Given the description of an element on the screen output the (x, y) to click on. 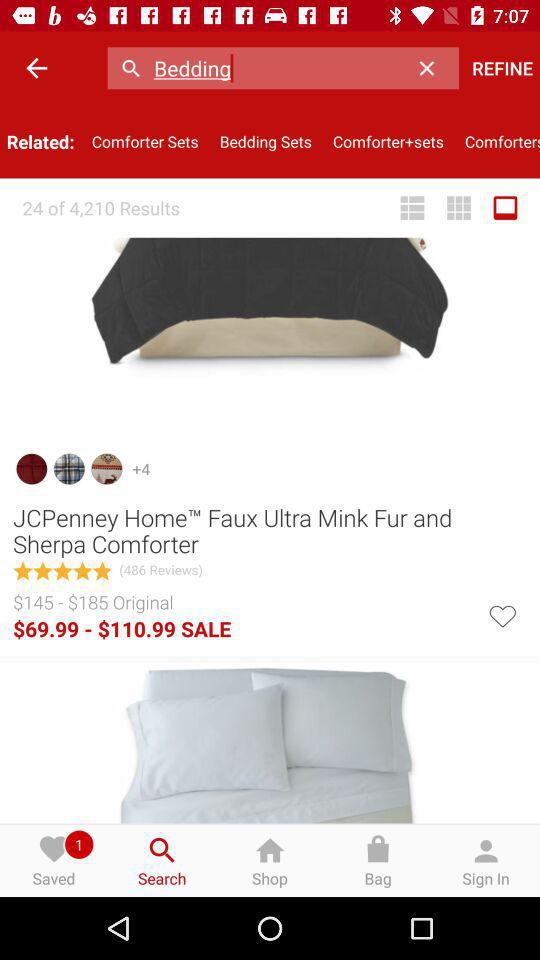
choose the icon below refine (497, 141)
